Given the description of an element on the screen output the (x, y) to click on. 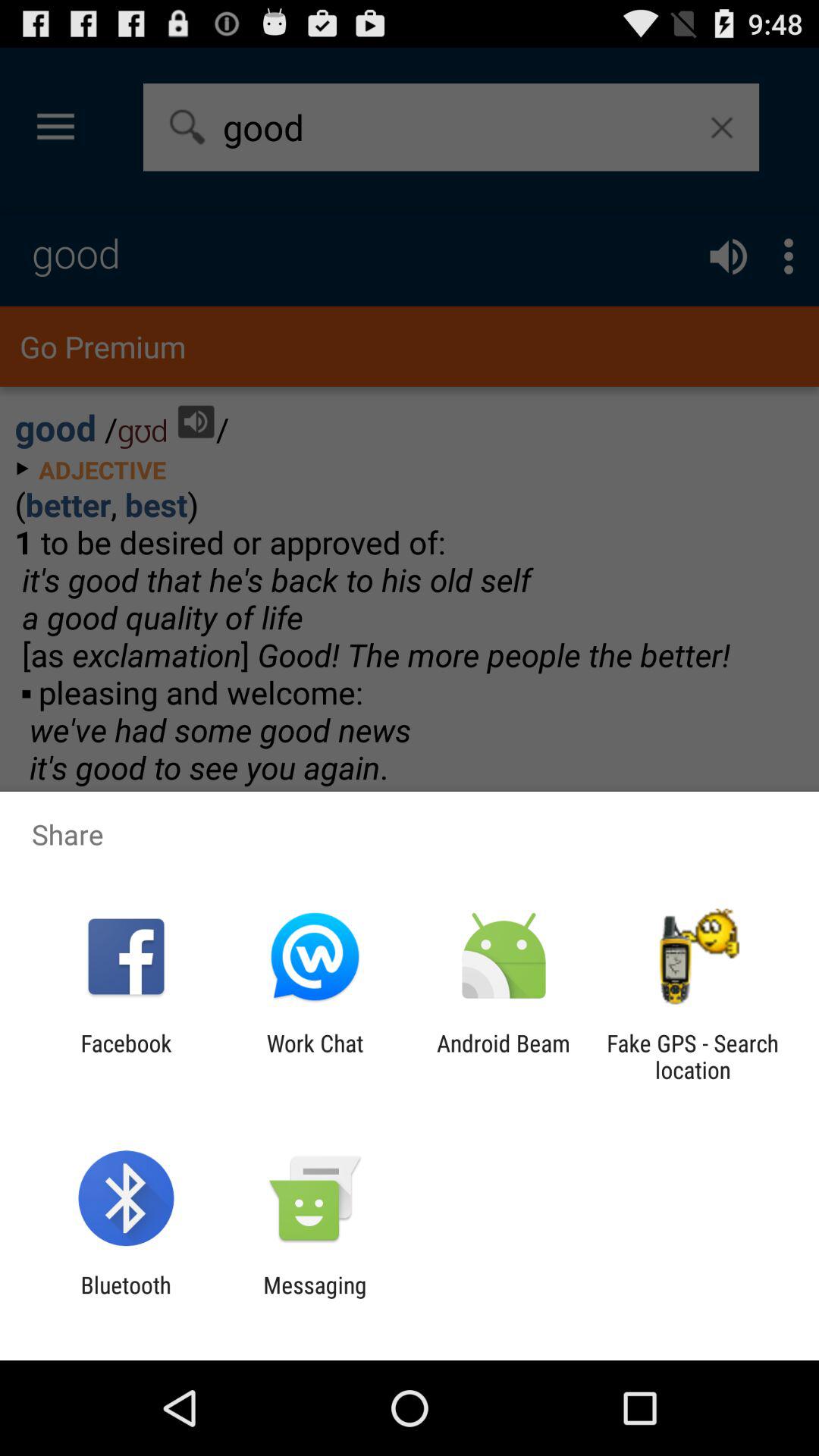
click android beam (503, 1056)
